Given the description of an element on the screen output the (x, y) to click on. 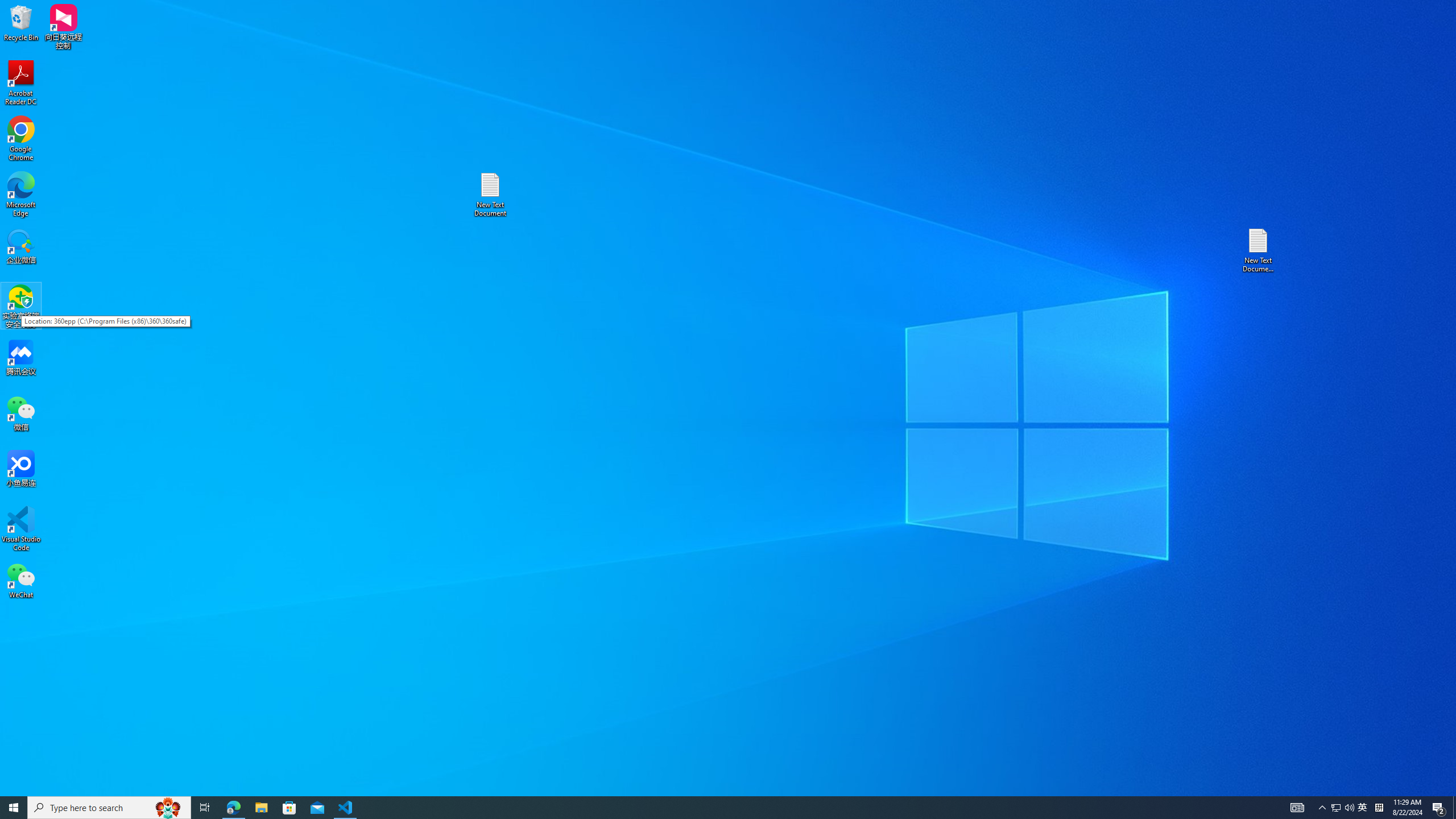
New Text Document (2) (1335, 807)
AutomationID: 4105 (1258, 250)
Recycle Bin (1297, 807)
New Text Document (21, 22)
Search highlights icon opens search home window (489, 194)
WeChat (167, 807)
File Explorer (21, 580)
User Promoted Notification Area (261, 807)
Microsoft Store (1342, 807)
Microsoft Edge (289, 807)
Acrobat Reader DC (21, 194)
